Given the description of an element on the screen output the (x, y) to click on. 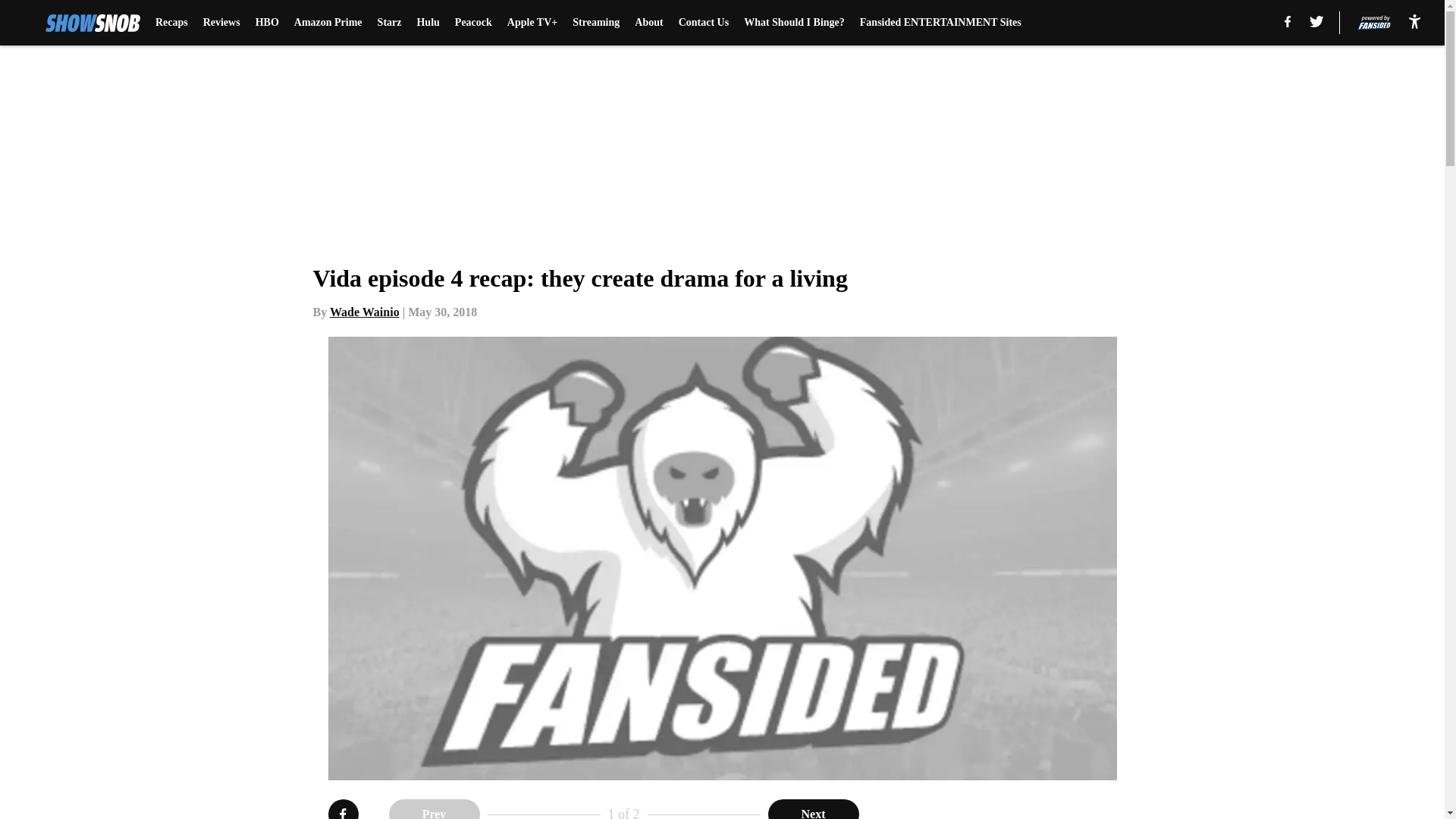
Peacock (473, 22)
3rd party ad content (1047, 809)
Amazon Prime (328, 22)
Streaming (596, 22)
HBO (267, 22)
Prev (433, 809)
About (648, 22)
Reviews (221, 22)
Wade Wainio (364, 311)
Contact Us (703, 22)
